Given the description of an element on the screen output the (x, y) to click on. 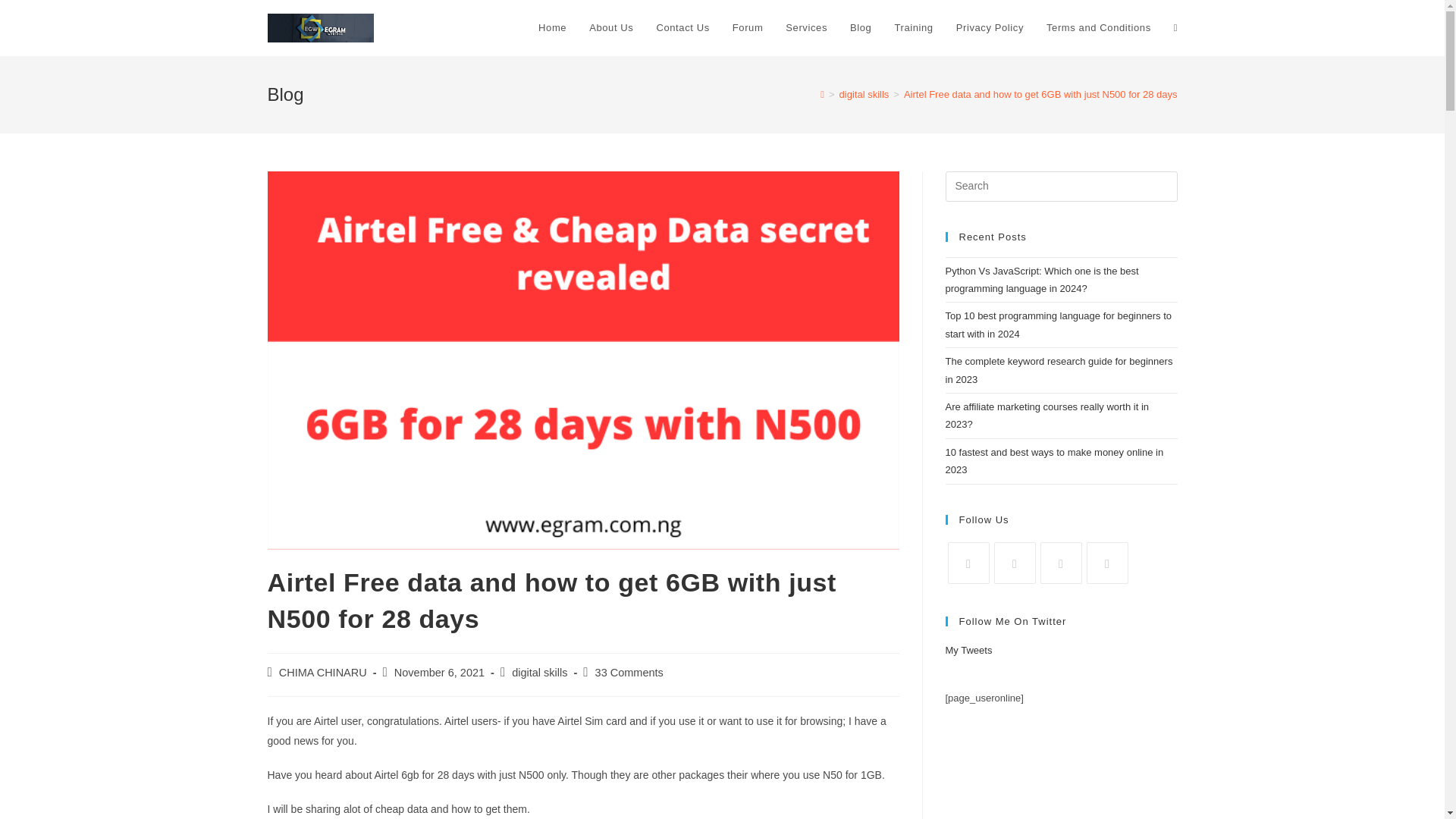
digital skills (864, 93)
33 Comments (629, 672)
About Us (611, 28)
Home (552, 28)
Privacy Policy (989, 28)
CHIMA CHINARU (322, 672)
Posts by CHIMA CHINARU (322, 672)
Contact Us (682, 28)
Terms and Conditions (1098, 28)
